Given the description of an element on the screen output the (x, y) to click on. 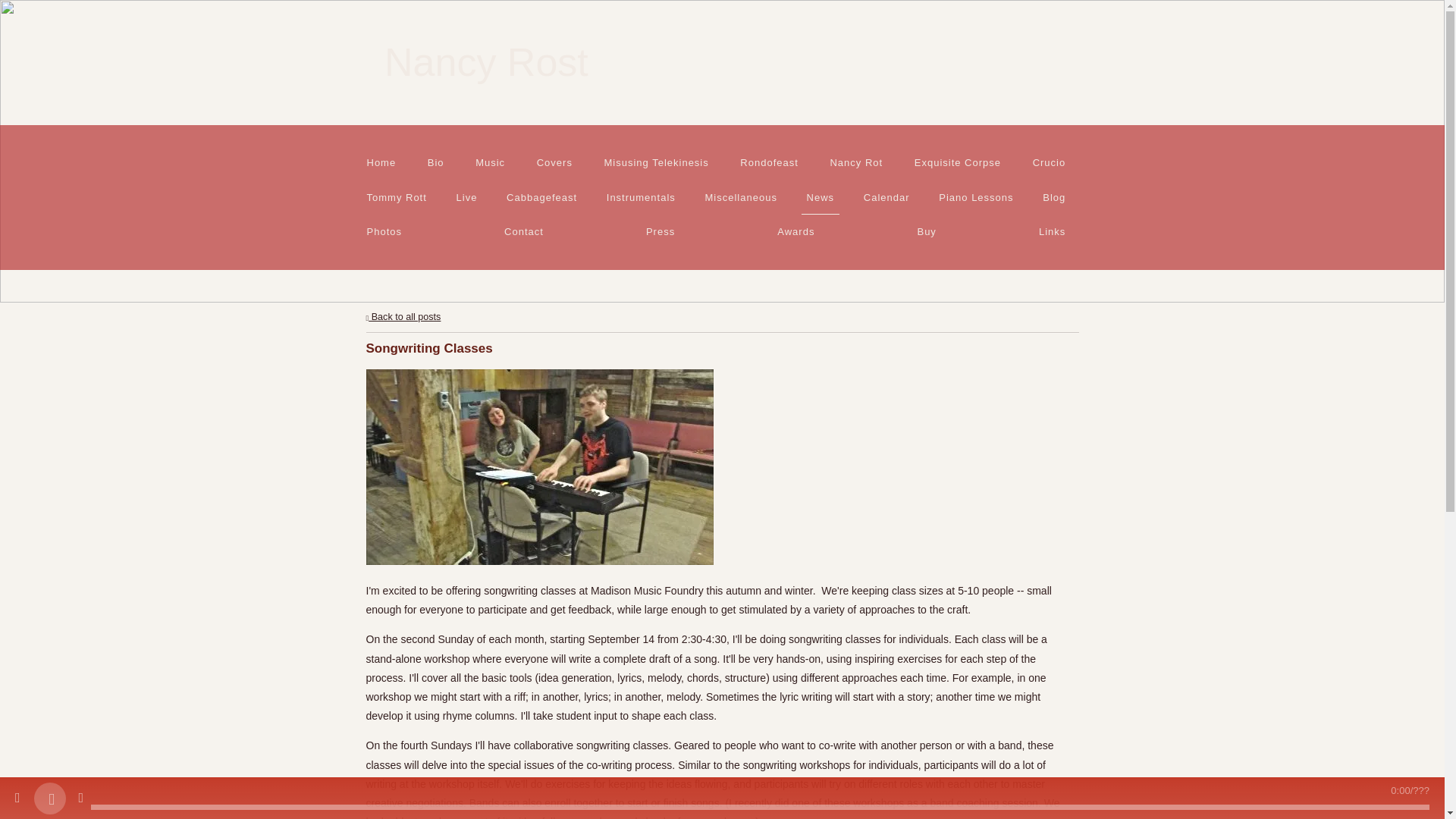
Exquisite Corpse (957, 162)
Live (466, 197)
Nancy Rost (486, 68)
Instrumentals (640, 197)
Home (381, 162)
Miscellaneous (740, 197)
Rondofeast (769, 162)
Tommy Rott (395, 197)
Covers (553, 162)
Misusing Telekinesis (655, 162)
Nancy Rot (856, 162)
Cabbagefeast (542, 197)
Crucio (1048, 162)
Music (490, 162)
